Given the description of an element on the screen output the (x, y) to click on. 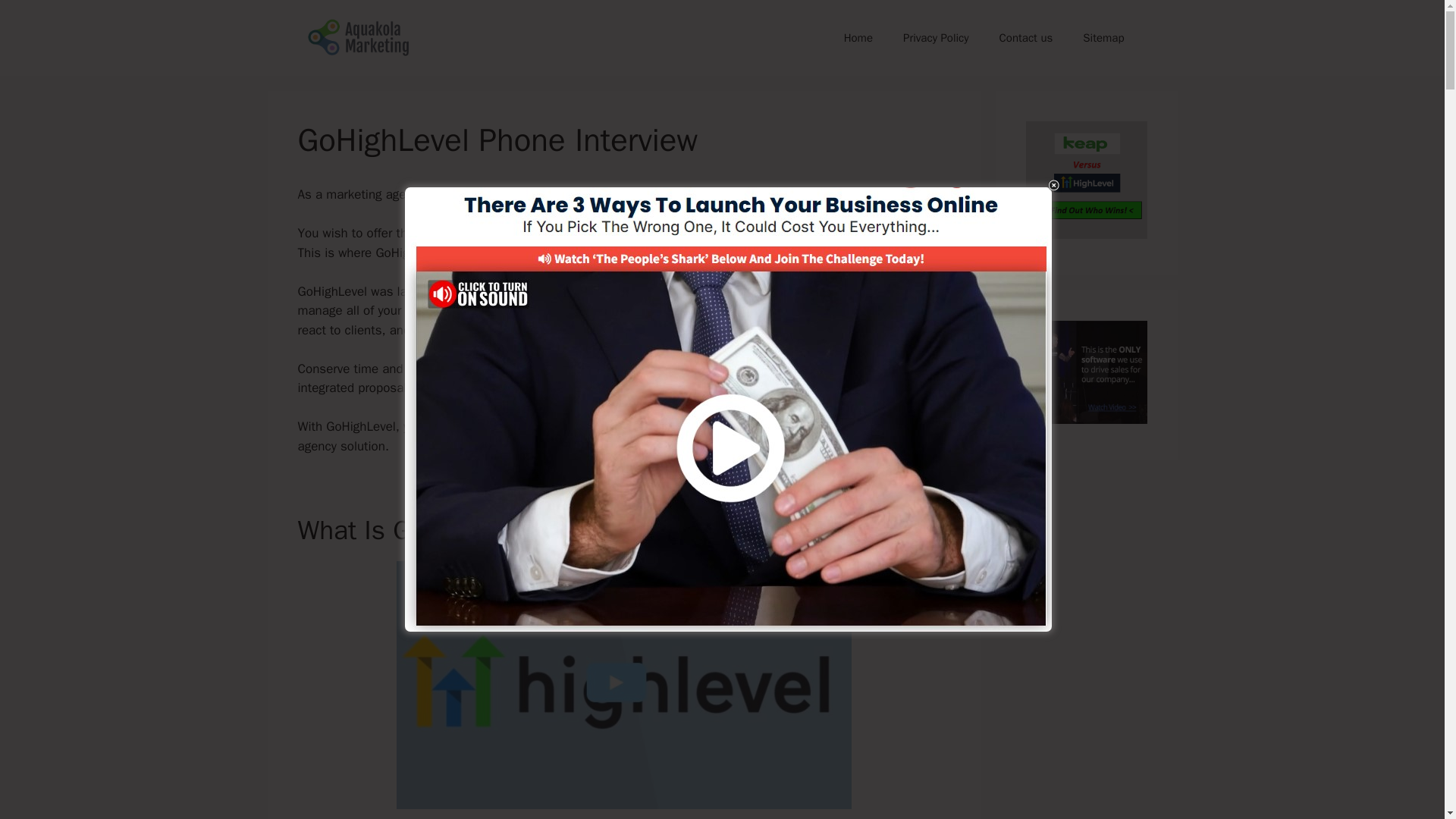
Home (858, 37)
Sitemap (1102, 37)
Contact us (1026, 37)
Privacy Policy (936, 37)
